Given the description of an element on the screen output the (x, y) to click on. 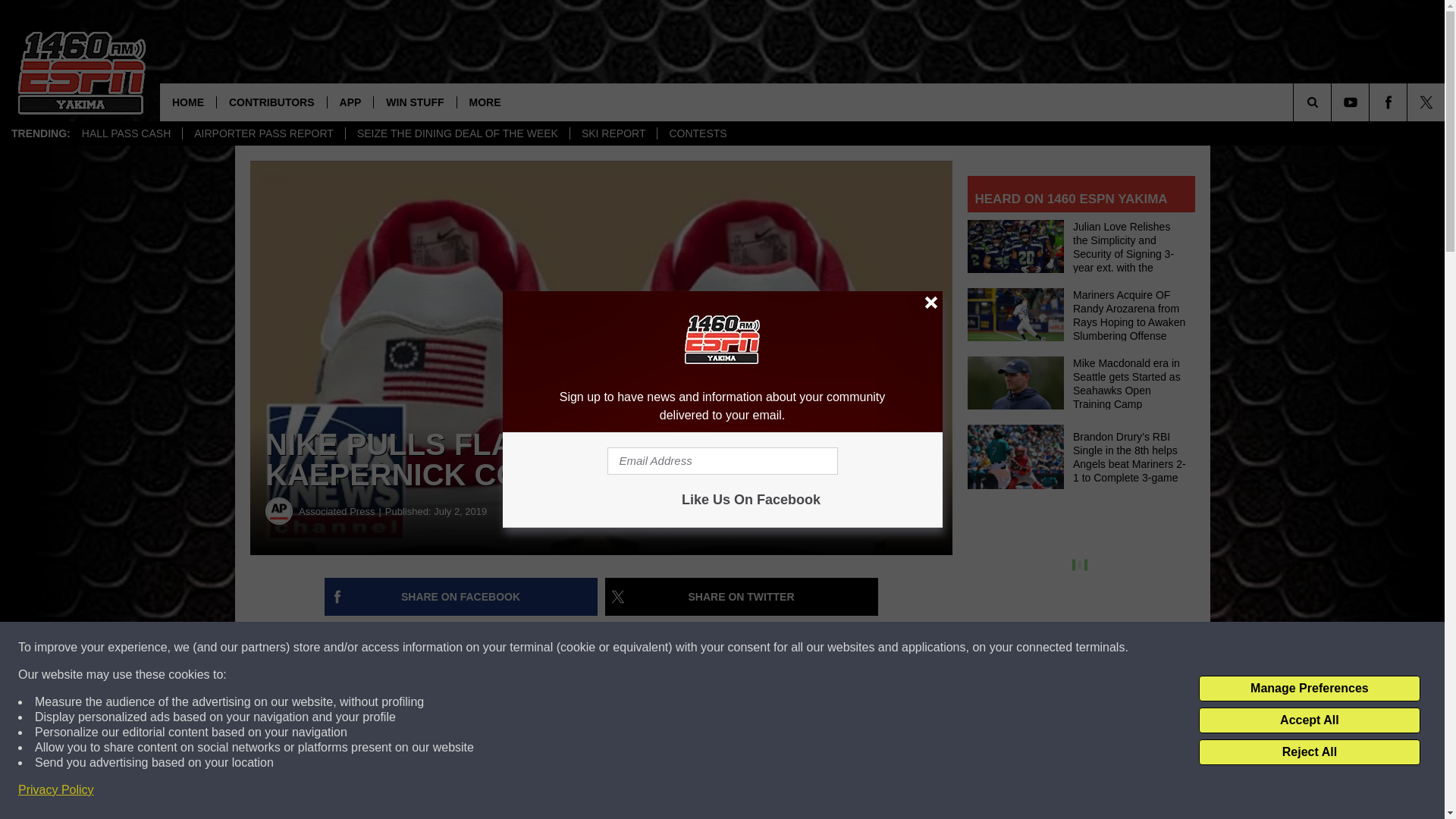
WIN STUFF (413, 102)
Email Address (722, 461)
Accept All (1309, 720)
Privacy Policy (55, 789)
Reject All (1309, 751)
SEARCH (1333, 102)
APP (350, 102)
HALL PASS CASH (126, 133)
SKI REPORT (613, 133)
AIRPORTER PASS REPORT (263, 133)
Share on Facebook (460, 596)
CONTESTS (697, 133)
SEIZE THE DINING DEAL OF THE WEEK (457, 133)
HOME (187, 102)
Manage Preferences (1309, 688)
